Given the description of an element on the screen output the (x, y) to click on. 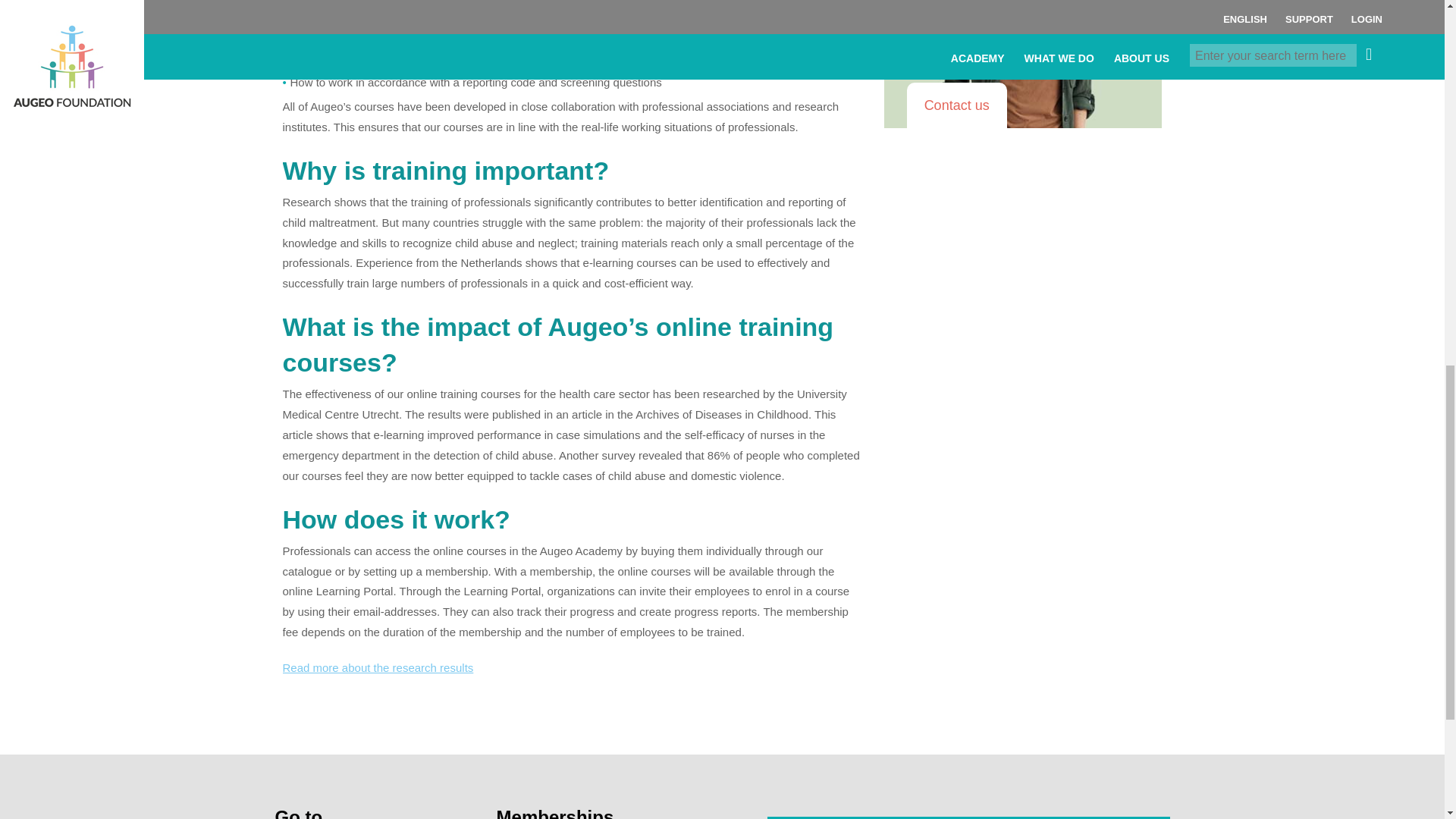
Read more about the research results (377, 667)
